Given the description of an element on the screen output the (x, y) to click on. 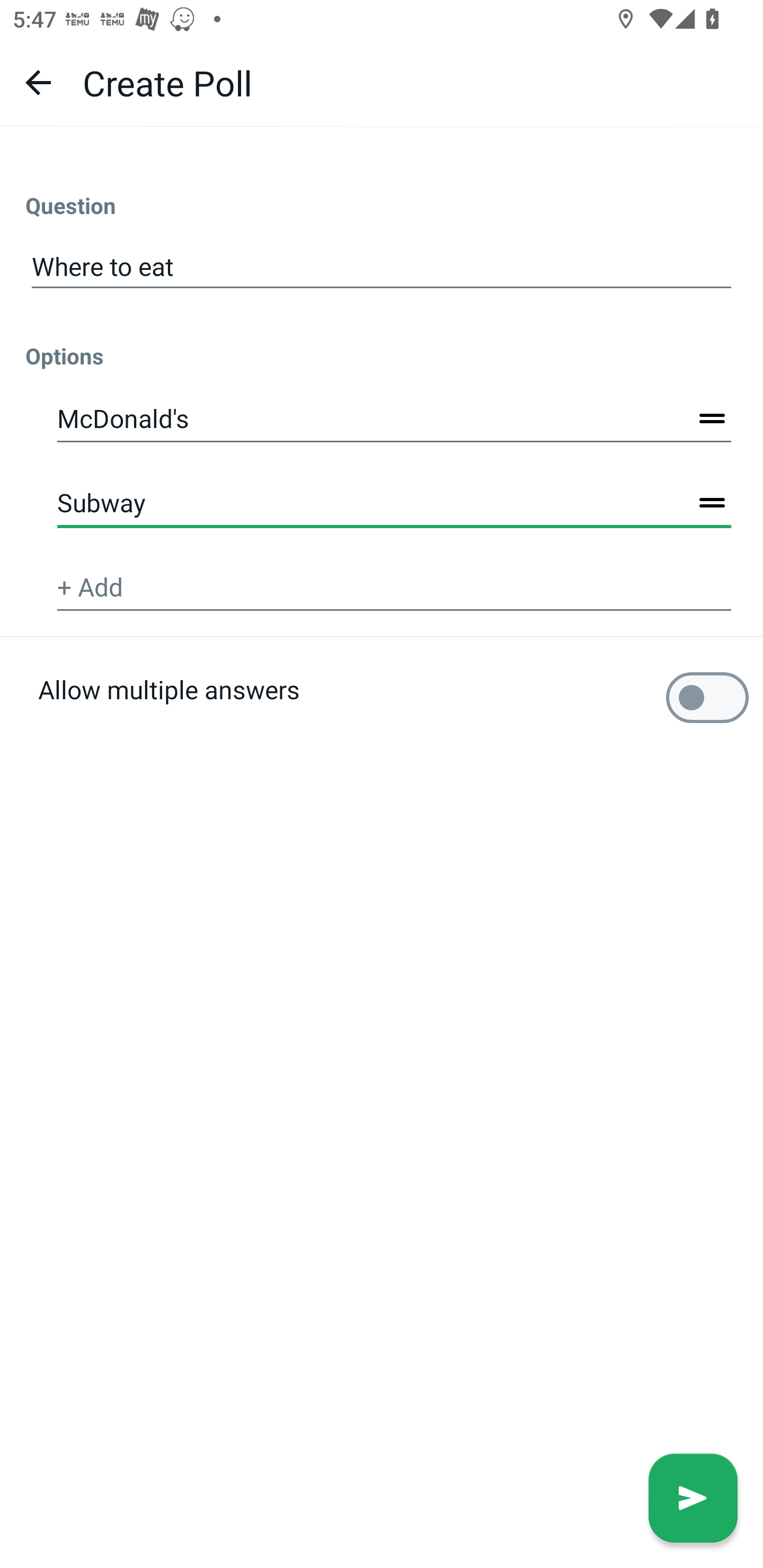
Navigate up (38, 82)
Where to eat (381, 267)
McDonald's (394, 419)
Subway (394, 503)
+ Add (394, 587)
Allow multiple answers (381, 729)
Send (692, 1497)
